Given the description of an element on the screen output the (x, y) to click on. 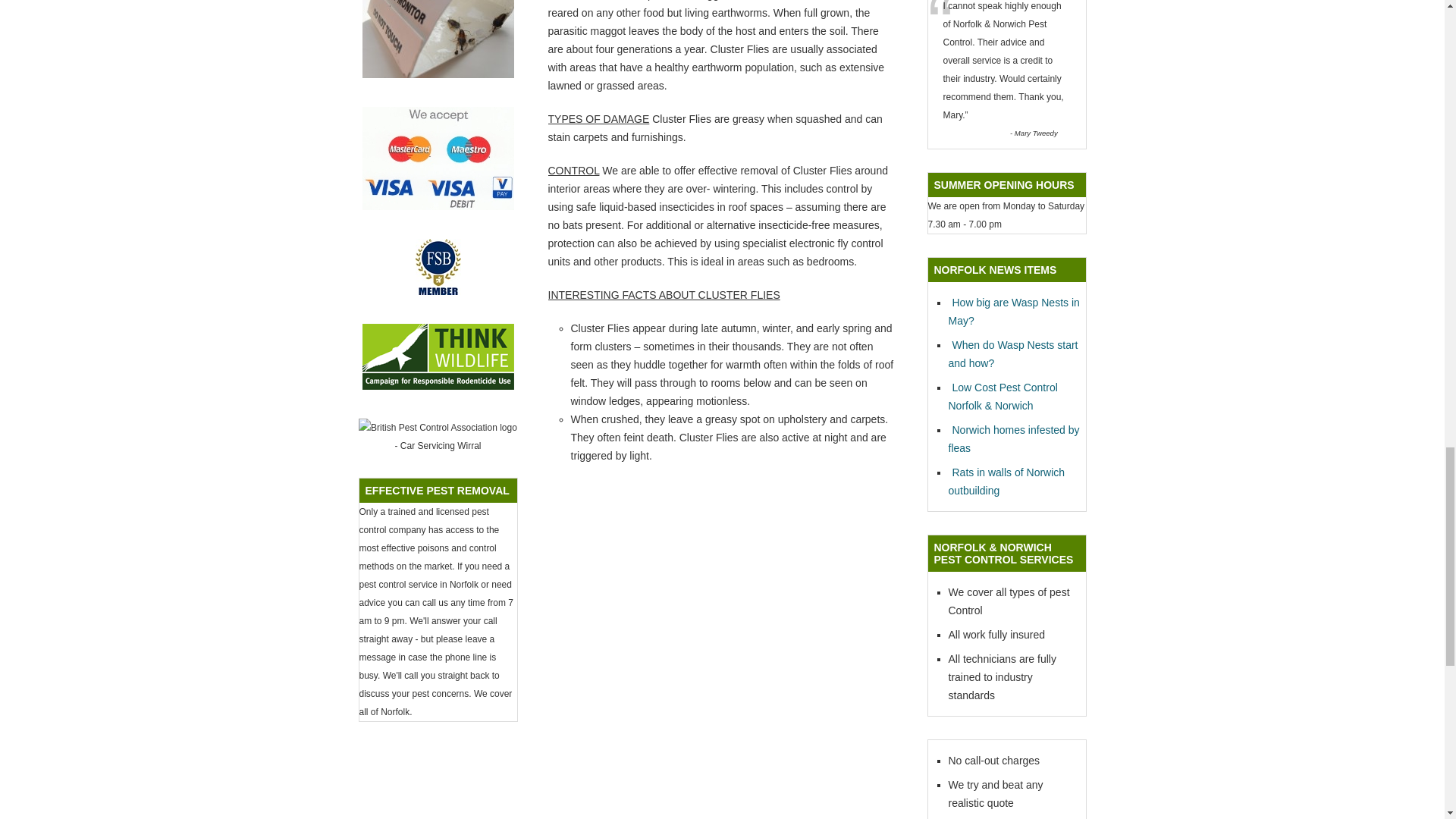
How big are Wasp Nests in May? (1012, 311)
Norwich homes infested by fleas (1012, 439)
When do Wasp Nests start and how? (1012, 354)
